Given the description of an element on the screen output the (x, y) to click on. 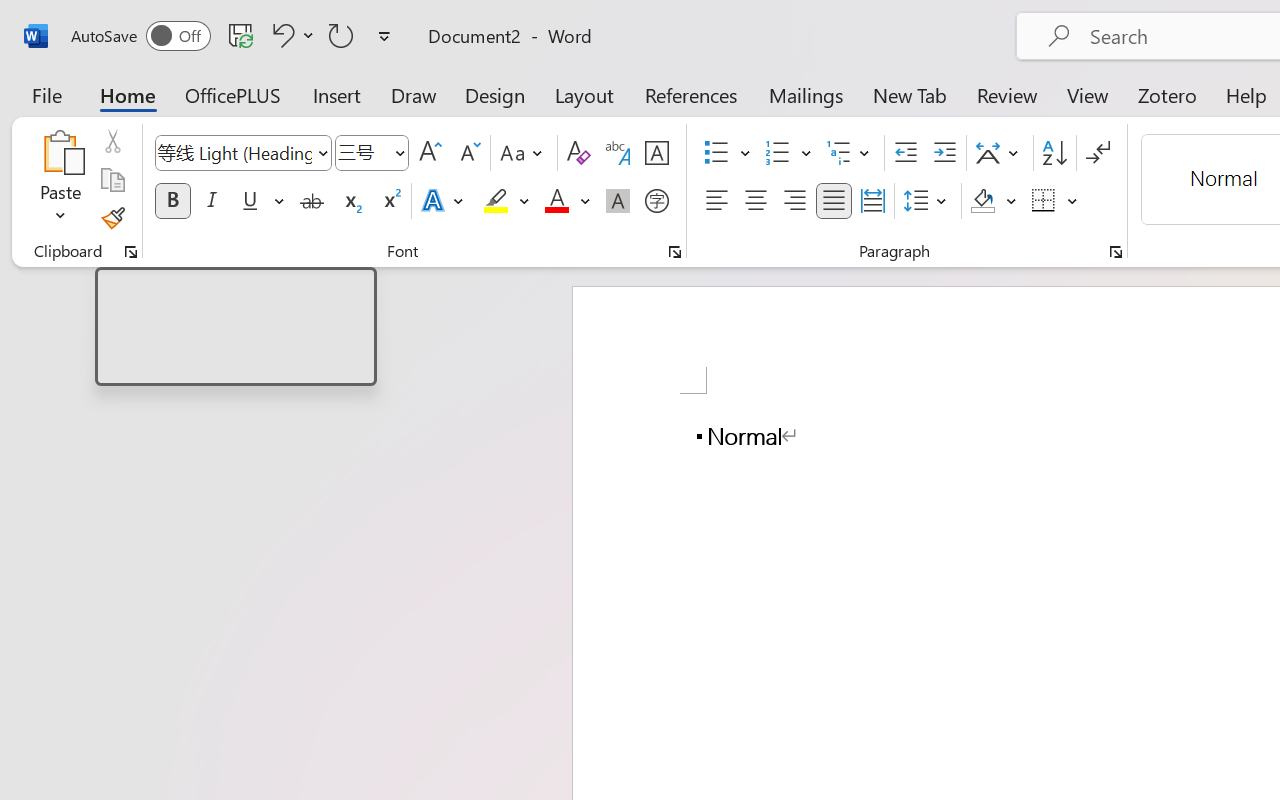
Borders (1044, 201)
Paragraph... (1115, 252)
Sort... (1054, 153)
Shading (993, 201)
Character Border (656, 153)
Cut (112, 141)
Shrink Font (468, 153)
Show/Hide Editing Marks (1098, 153)
Draw (413, 94)
Phonetic Guide... (618, 153)
Character Shading (618, 201)
Clear Formatting (578, 153)
Underline (250, 201)
Bold (172, 201)
Repeat Doc Close (341, 35)
